Given the description of an element on the screen output the (x, y) to click on. 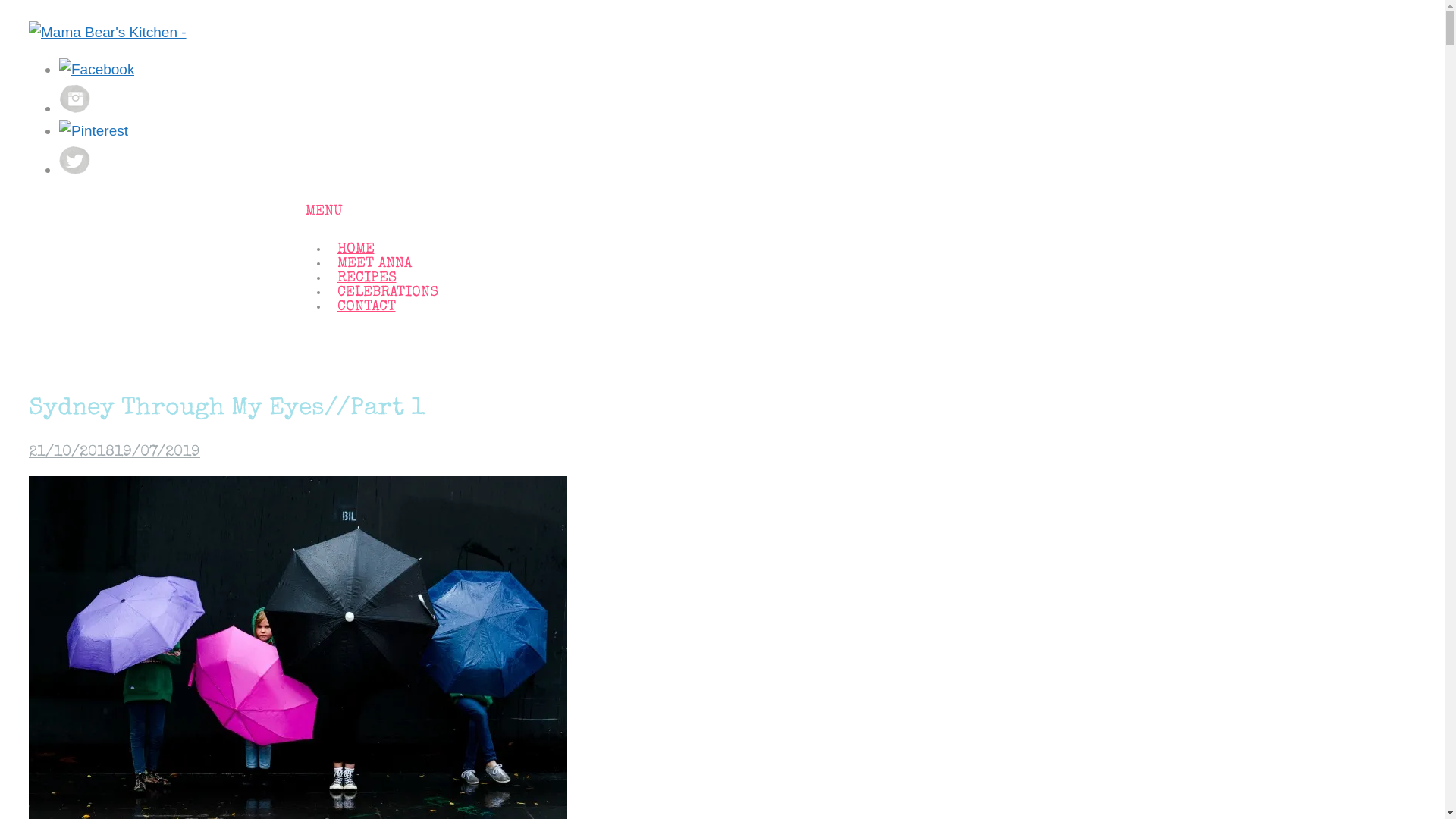
MEET ANNA Element type: text (373, 263)
CELEBRATIONS Element type: text (386, 292)
HOME Element type: text (354, 249)
RECIPES Element type: text (365, 278)
CONTACT Element type: text (365, 307)
21/10/201819/07/2019 Element type: text (114, 452)
SKIP TO CONTENT Element type: text (313, 236)
